Given the description of an element on the screen output the (x, y) to click on. 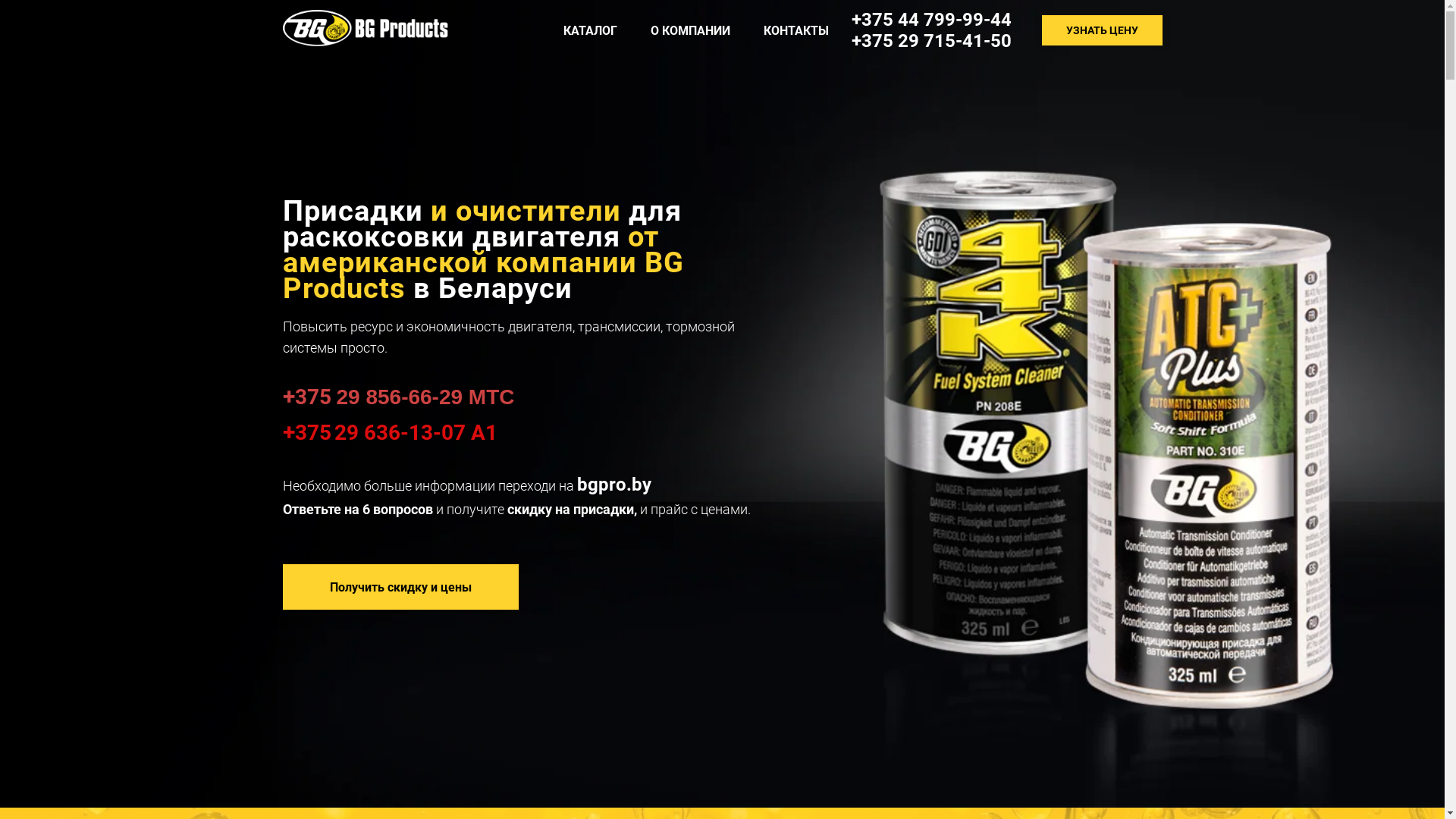
375 Element type: text (312, 432)
375 Element type: text (314, 396)
+375 29 715-41-50 Element type: text (930, 40)
+ Element type: text (288, 431)
+375 44 799-99-44 Element type: text (930, 19)
+ Element type: text (288, 395)
